Given the description of an element on the screen output the (x, y) to click on. 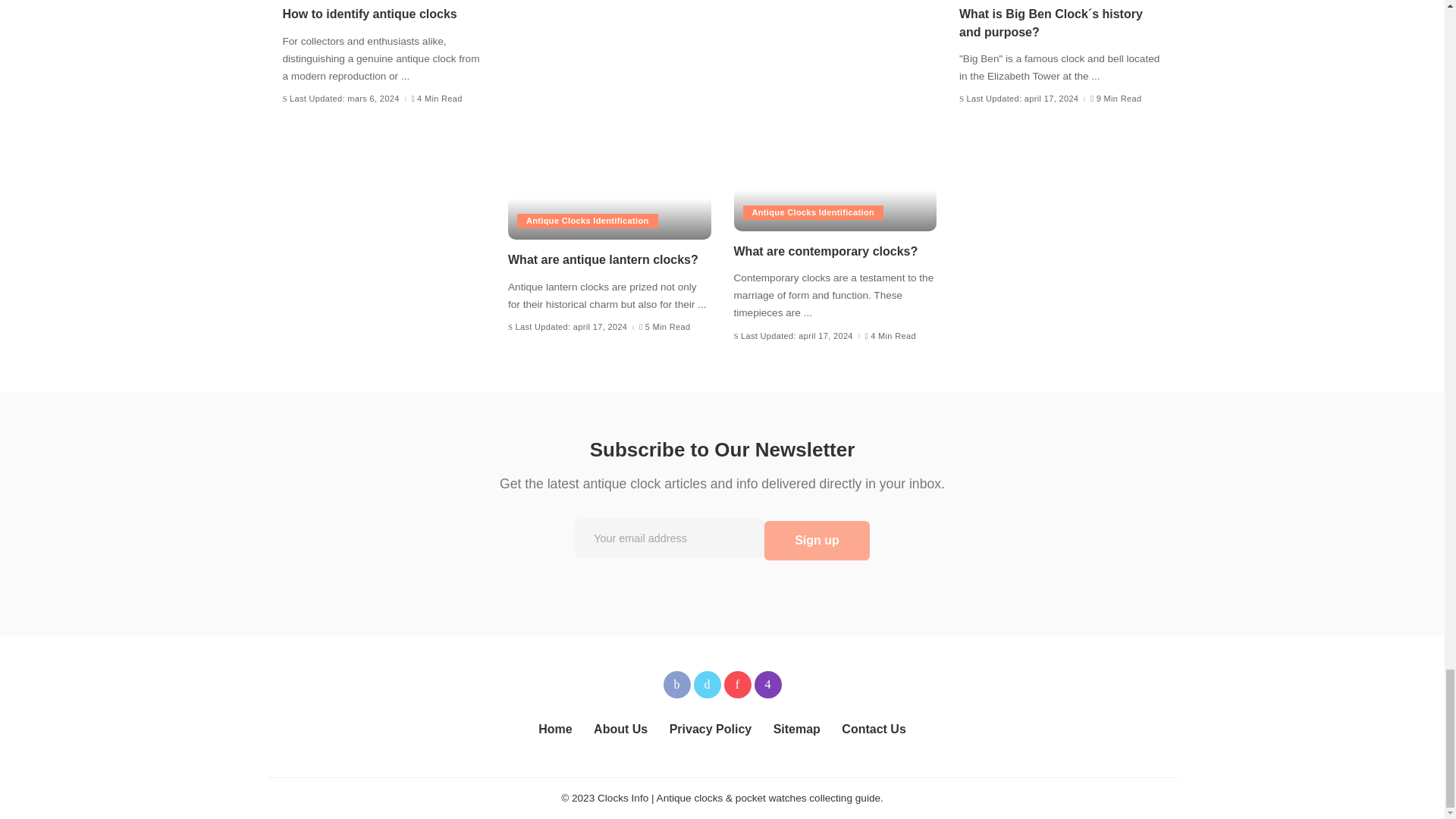
Sign up (816, 540)
